Given the description of an element on the screen output the (x, y) to click on. 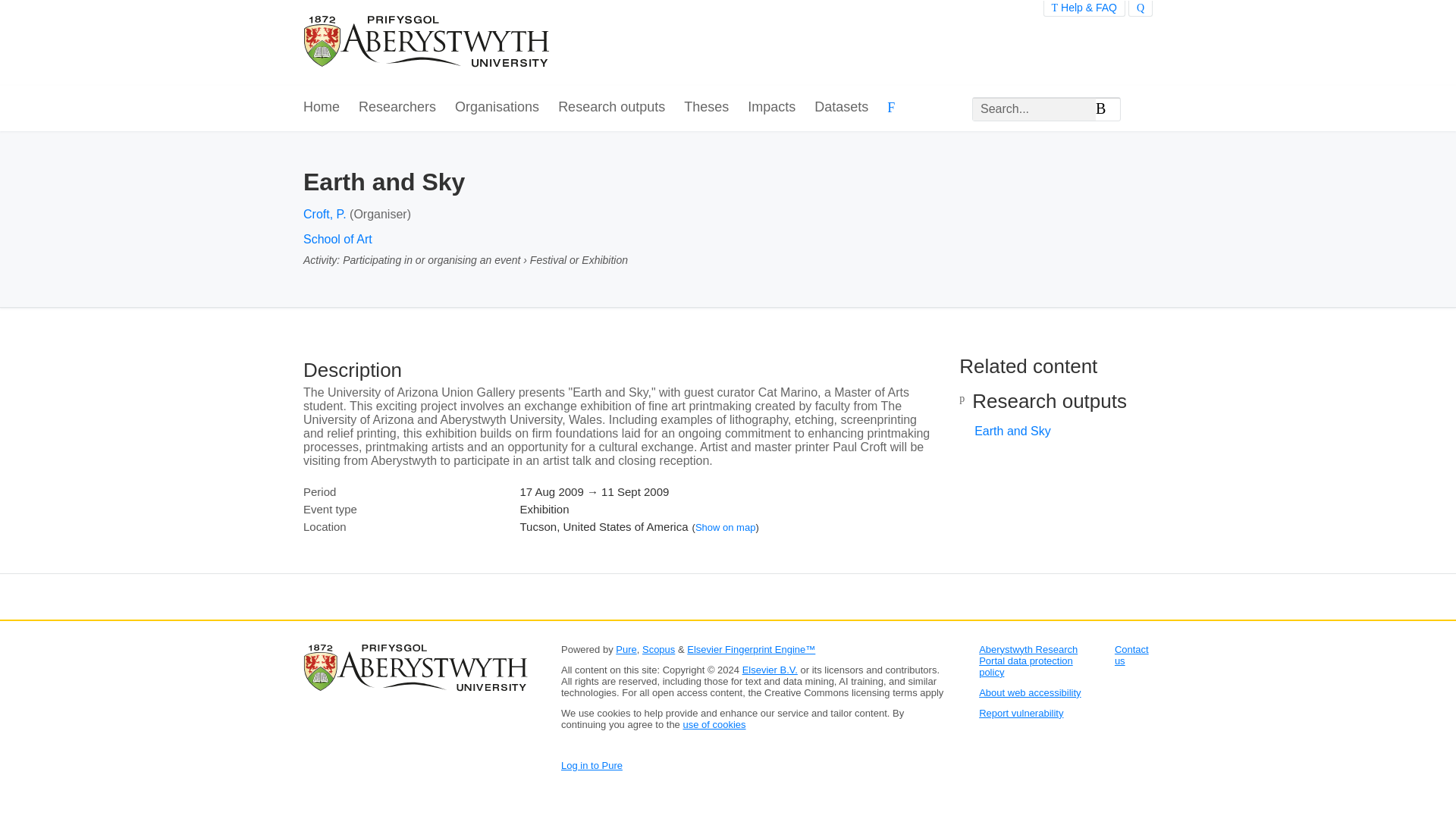
School of Art (337, 238)
Croft, P. (324, 214)
Research outputs (611, 107)
About web accessibility (1029, 692)
Theses (706, 107)
Pure (625, 649)
Aberystwyth Research Portal data protection policy (1027, 660)
Researchers (396, 107)
Earth and Sky (1012, 431)
Organisations (496, 107)
Log in to Pure (591, 765)
Elsevier B.V. (769, 669)
Contact us (1131, 654)
use of cookies (713, 724)
